Given the description of an element on the screen output the (x, y) to click on. 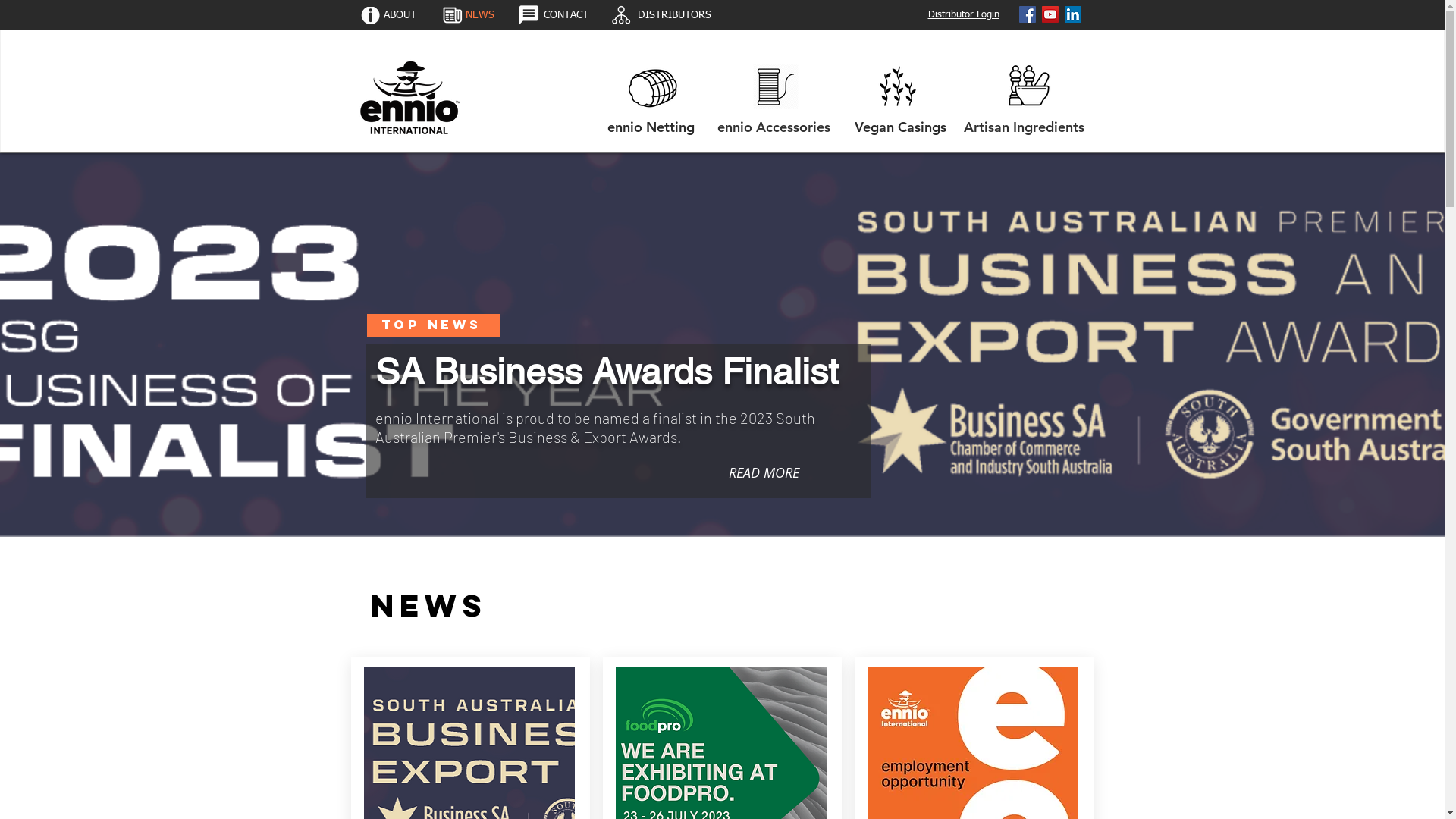
ennio Netting Element type: text (649, 127)
Artisan Ingredients Element type: text (1023, 127)
ennio Accessories Element type: text (773, 127)
CONTACT Element type: text (565, 14)
Distributor Login Element type: text (963, 13)
ABOUT Element type: text (398, 14)
DISTRIBUTORS Element type: text (673, 14)
NEWS Element type: text (480, 14)
Vegan Casings Element type: text (900, 127)
READ MORE Element type: text (763, 472)
